Given the description of an element on the screen output the (x, y) to click on. 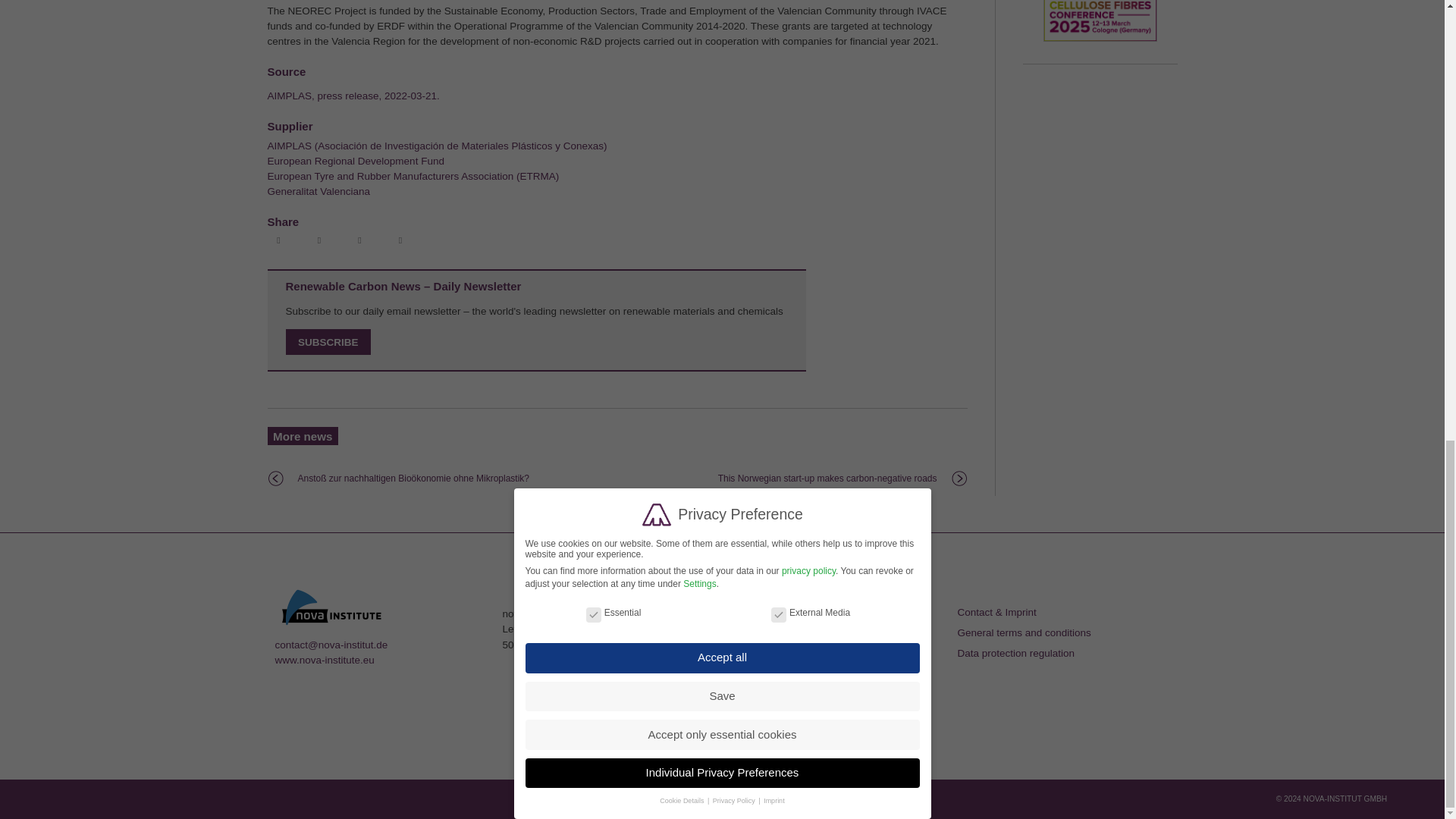
European Regional Development Fund (355, 161)
Bei Twitter teilen (320, 241)
SUBSCRIBE (328, 342)
AIMPLAS, press release, 2022-03-21. (352, 95)
Bei LinkedIn teilen (360, 241)
Bei Facebook teilen (280, 241)
Generalitat Valenciana (317, 191)
Per E-Mail versenden (401, 241)
This Norwegian start-up makes carbon-negative roads (827, 478)
